Given the description of an element on the screen output the (x, y) to click on. 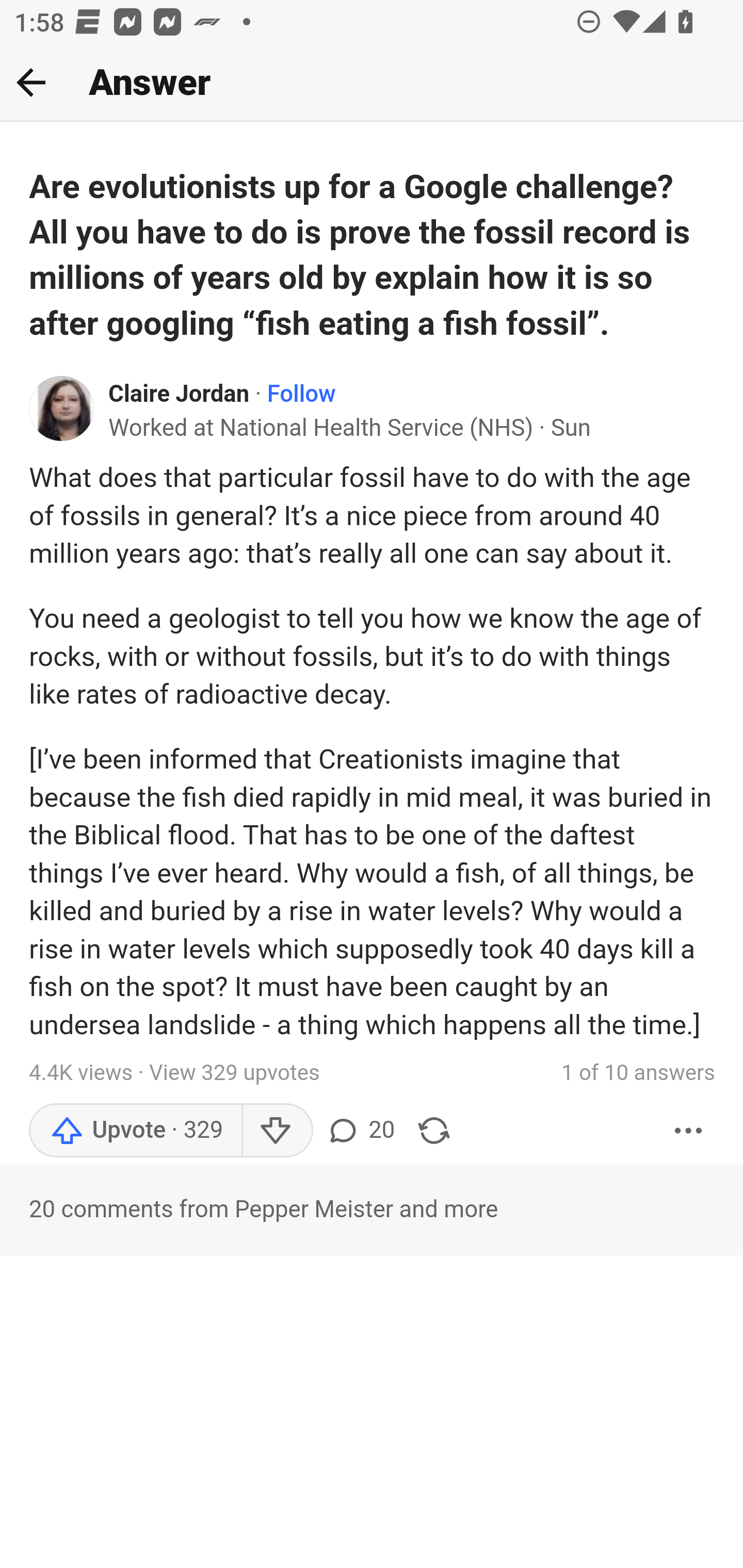
Back (30, 82)
Profile photo for Claire Jordan (61, 407)
Claire Jordan (179, 394)
Follow (301, 394)
View 329 upvotes (234, 1072)
1 of 10 answers (637, 1072)
Upvote (135, 1129)
Downvote (277, 1129)
20 comments (360, 1129)
Share (434, 1129)
More (688, 1129)
20 comments from Pepper Meister and more (371, 1209)
